Given the description of an element on the screen output the (x, y) to click on. 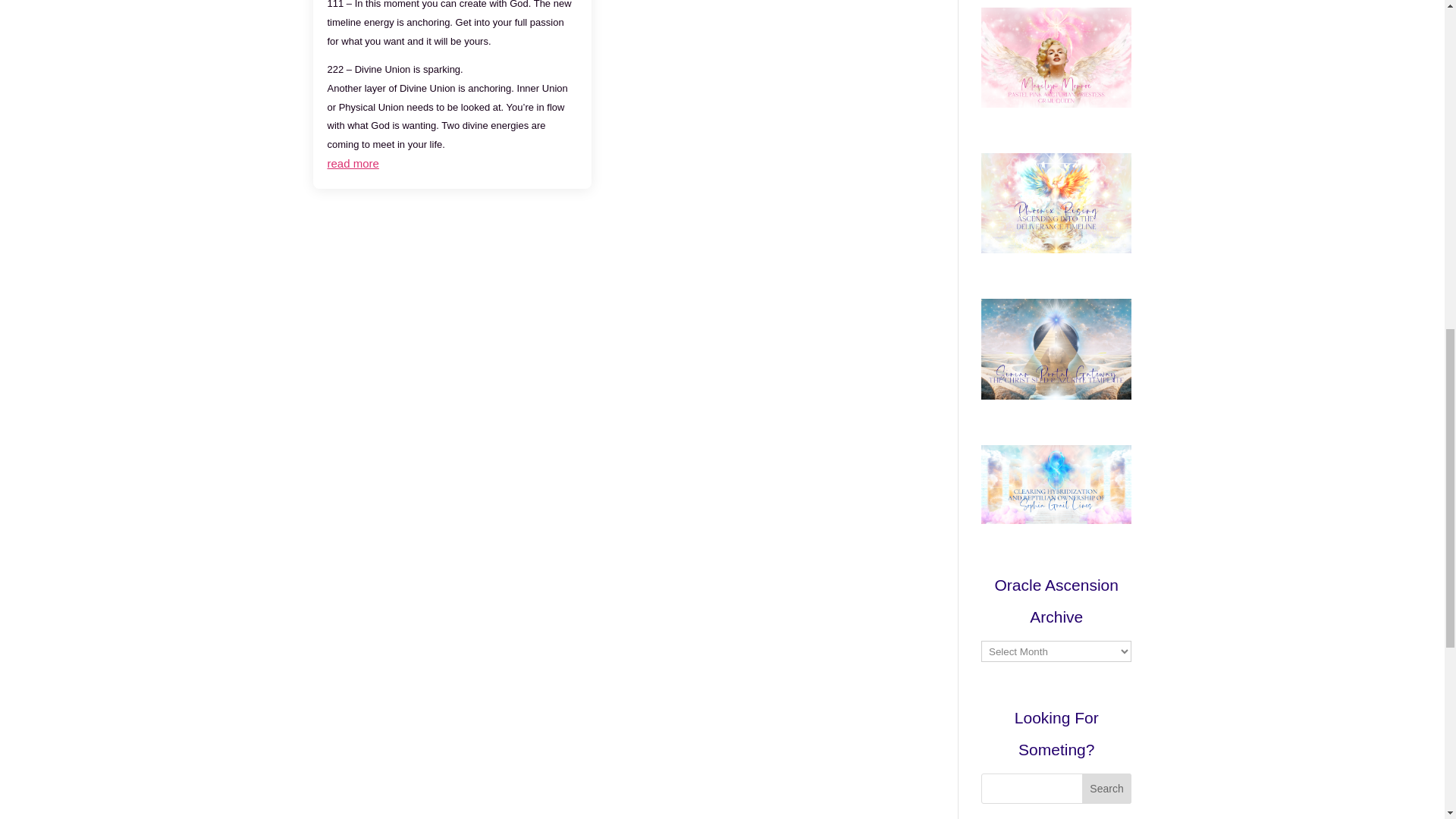
Search (1106, 788)
